Given the description of an element on the screen output the (x, y) to click on. 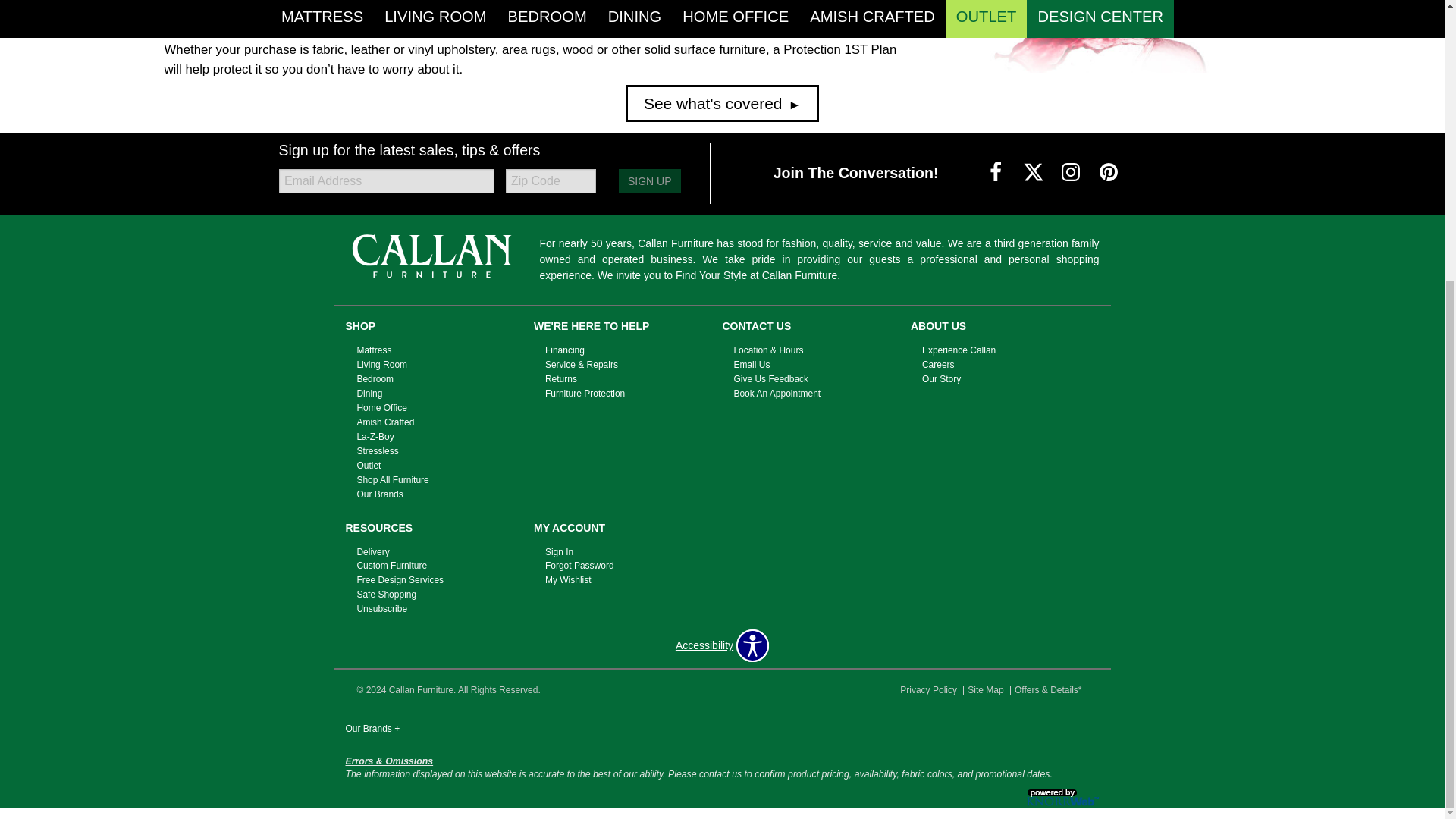
Visit Our Twitter Page (1034, 173)
Visit Our Pinterest Page (1108, 173)
Visit Our Facebook Page (997, 173)
Visit Our Instagram Page (1072, 173)
